Given the description of an element on the screen output the (x, y) to click on. 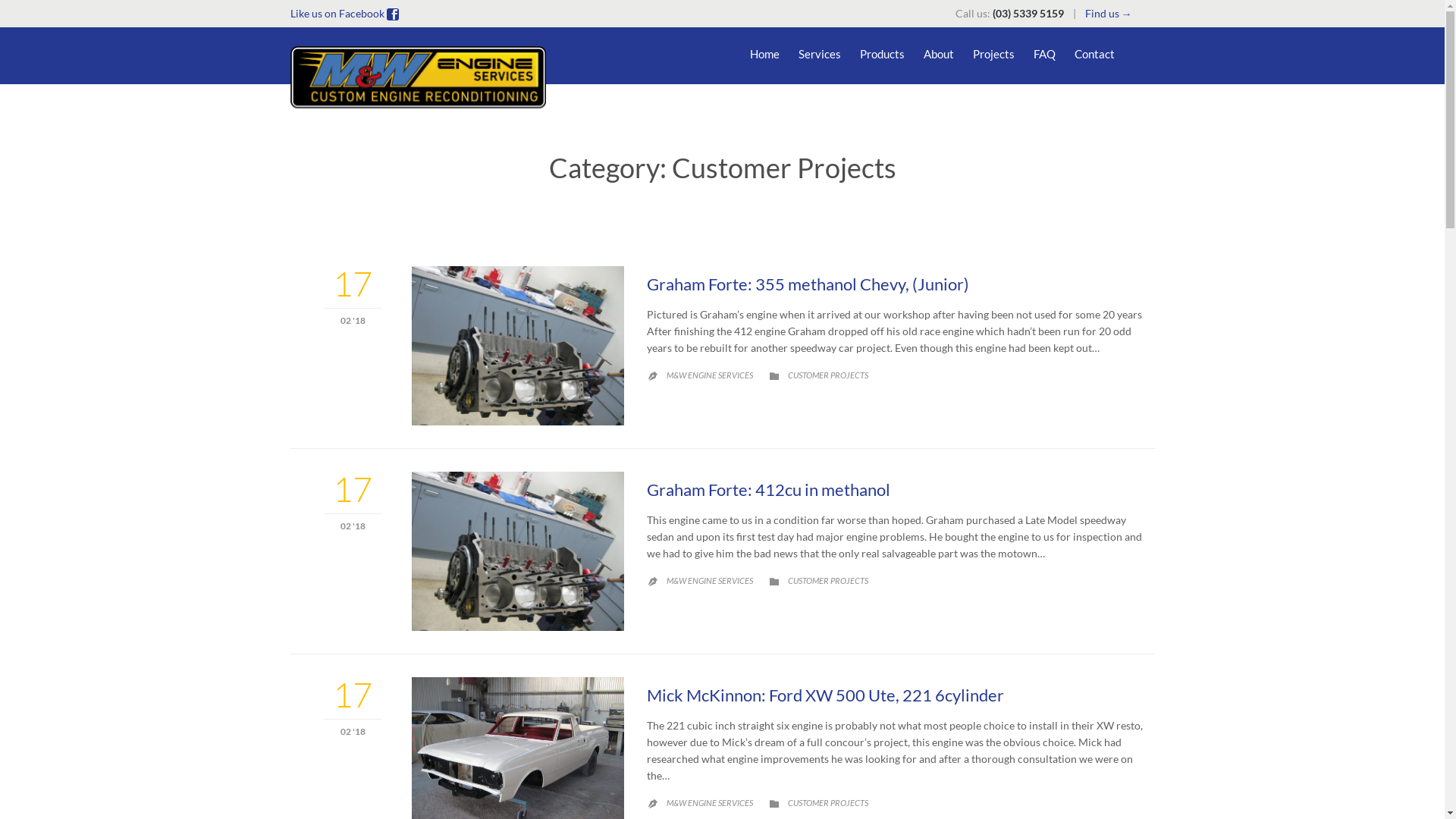
Contact Element type: text (1093, 55)
CUSTOMER PROJECTS Element type: text (827, 802)
Graham Forte: 355 methanol Chevy, (Junior) Element type: text (807, 283)
CUSTOMER PROJECTS Element type: text (827, 580)
Home Element type: text (763, 55)
Graham Forte: 412cu in methanol Element type: text (767, 489)
Products Element type: text (881, 55)
Skip to content Element type: text (1125, 40)
M&W ENGINE SERVICES Element type: text (708, 374)
CUSTOMER PROJECTS Element type: text (827, 374)
Projects Element type: text (992, 55)
M&W ENGINE SERVICES Element type: text (708, 580)
Like us on Facebook Element type: text (337, 12)
About Element type: text (938, 55)
M&W Engine Services Element type: hover (418, 77)
Mick McKinnon: Ford XW 500 Ute, 221 6cylinder Element type: text (824, 694)
FAQ Element type: text (1043, 55)
M&W ENGINE SERVICES Element type: text (708, 802)
Services Element type: text (818, 55)
